Given the description of an element on the screen output the (x, y) to click on. 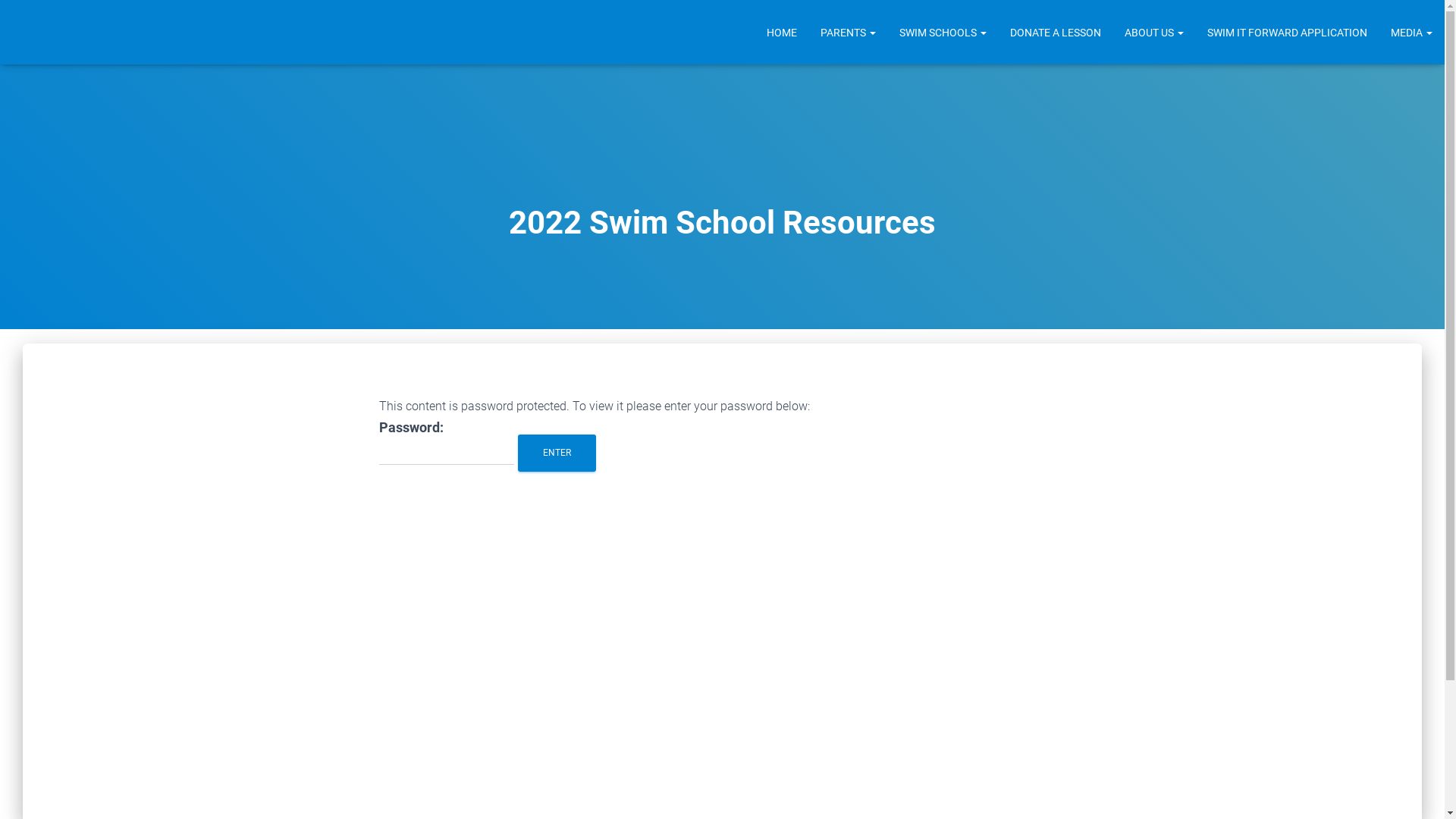
MEDIA Element type: text (1410, 32)
Enter Element type: text (556, 452)
SWIM IT FORWARD APPLICATION Element type: text (1285, 32)
PARENTS Element type: text (846, 32)
DONATE A LESSON Element type: text (1054, 32)
SWIM SCHOOLS Element type: text (941, 32)
ABOUT US Element type: text (1152, 32)
HOME Element type: text (780, 32)
